Given the description of an element on the screen output the (x, y) to click on. 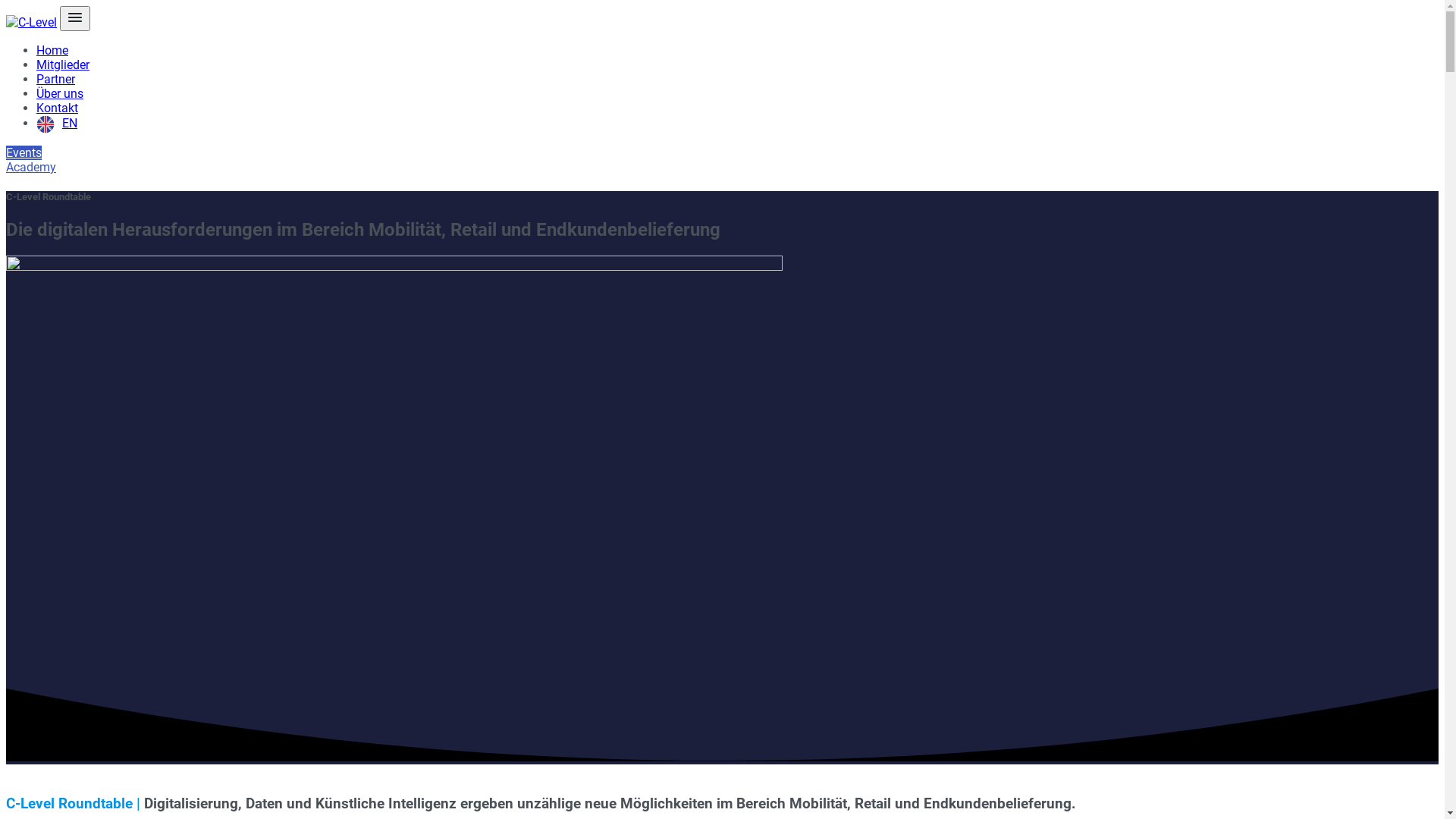
Events Element type: text (23, 152)
Kontakt Element type: text (57, 107)
Mitglieder Element type: text (62, 64)
EN Element type: text (56, 122)
Academy Element type: text (722, 174)
Partner Element type: text (55, 78)
Home Element type: text (52, 50)
